Given the description of an element on the screen output the (x, y) to click on. 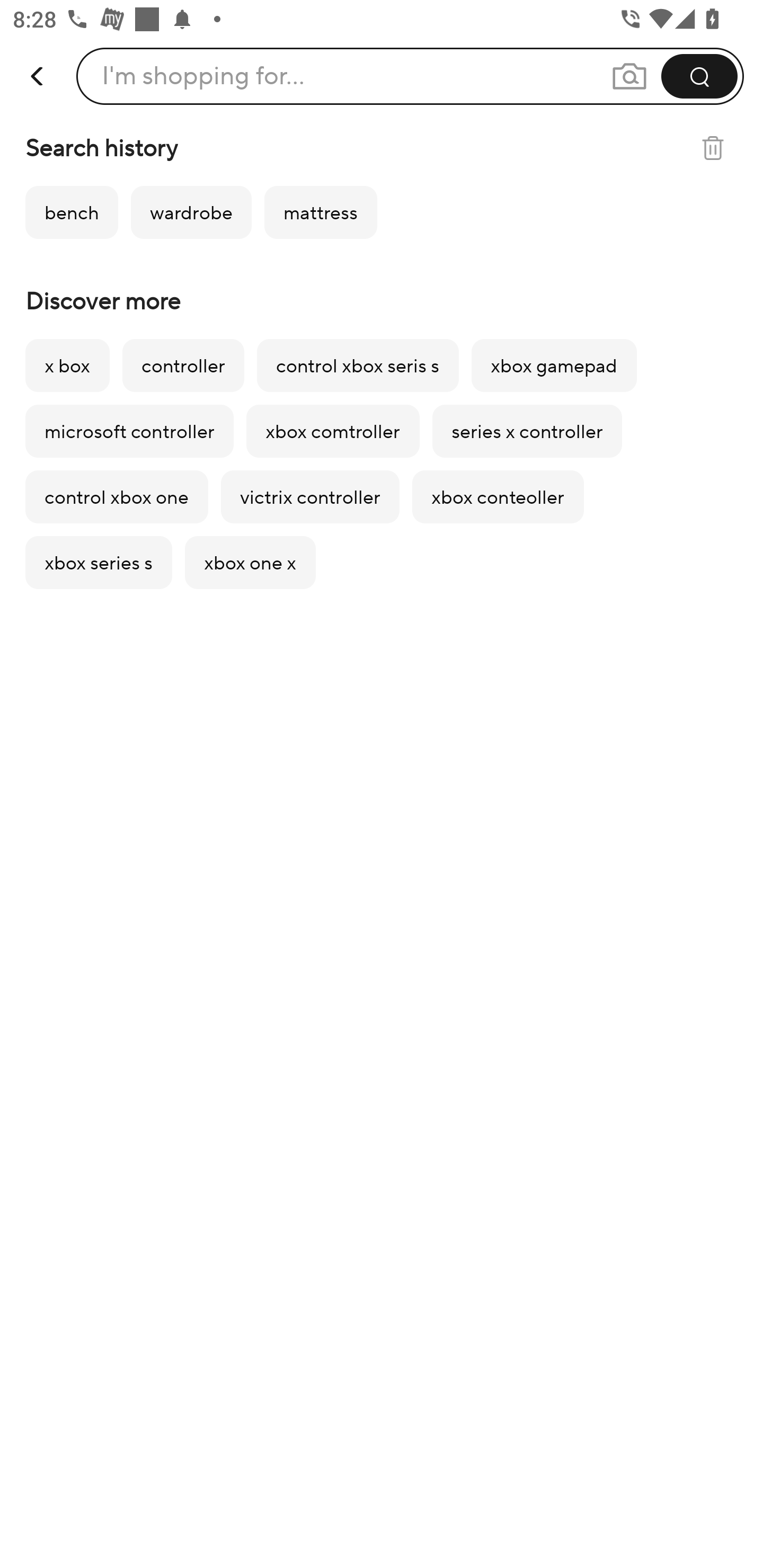
I'm shopping for… (203, 76)
bench (71, 212)
wardrobe (191, 212)
mattress (320, 212)
x box (67, 365)
controller (183, 365)
control xbox seris s (357, 365)
xbox gamepad (554, 365)
microsoft controller (129, 430)
xbox comtroller (332, 430)
series x controller (526, 430)
control xbox one (116, 496)
victrix controller (310, 496)
xbox conteoller (497, 496)
xbox series s (98, 562)
xbox one x (249, 562)
